Given the description of an element on the screen output the (x, y) to click on. 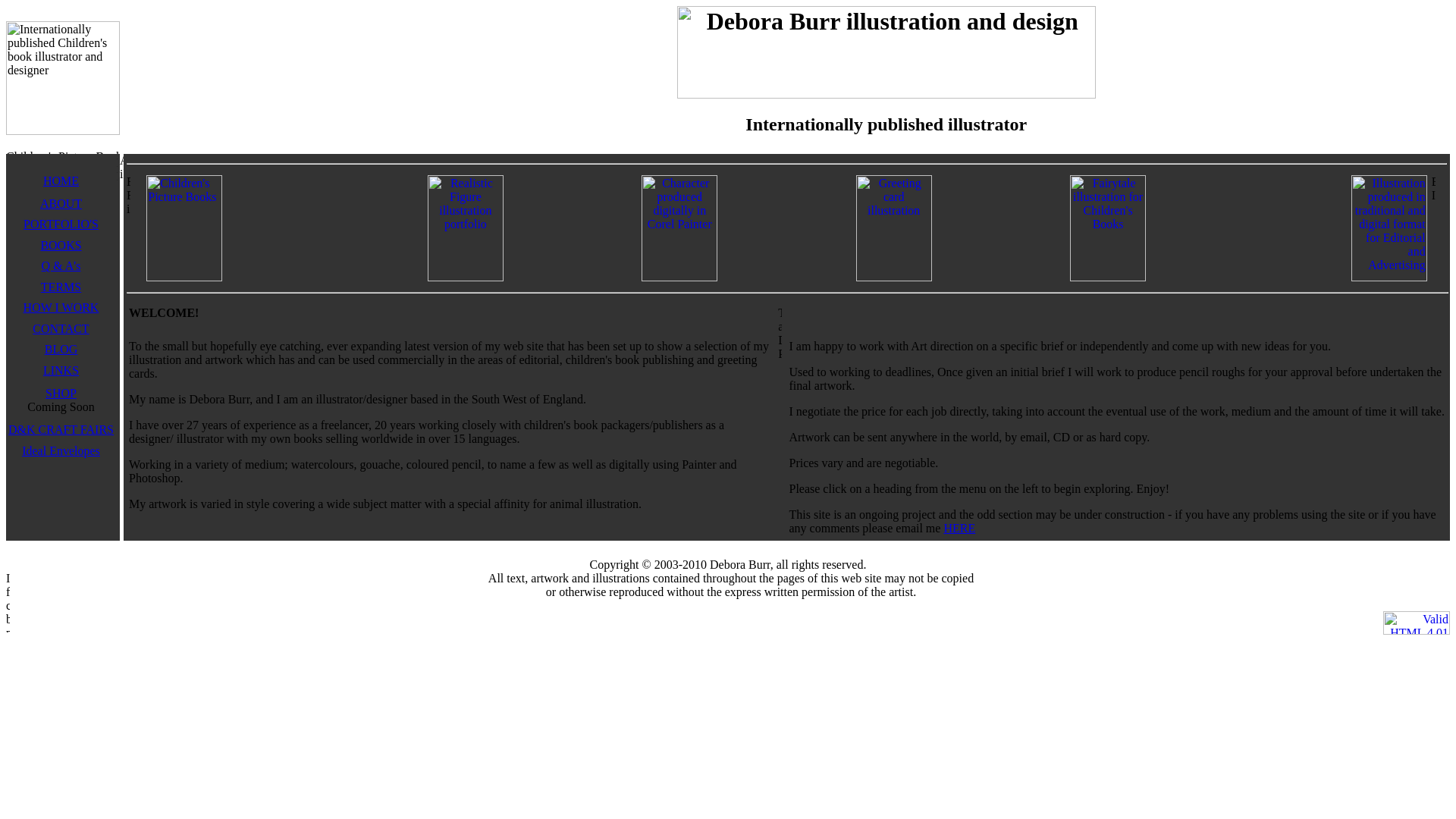
TERMS (60, 286)
Reveal this e-mail address (959, 527)
SHOP (61, 392)
CONTACT (60, 328)
BLOG (61, 349)
HOW I WORK (61, 307)
Ideal Envelopes (60, 450)
HOME (60, 187)
ABOUT (60, 203)
BOOKS (60, 245)
PORTFOLIO'S (61, 223)
HERE (959, 527)
LINKS (60, 369)
